Given the description of an element on the screen output the (x, y) to click on. 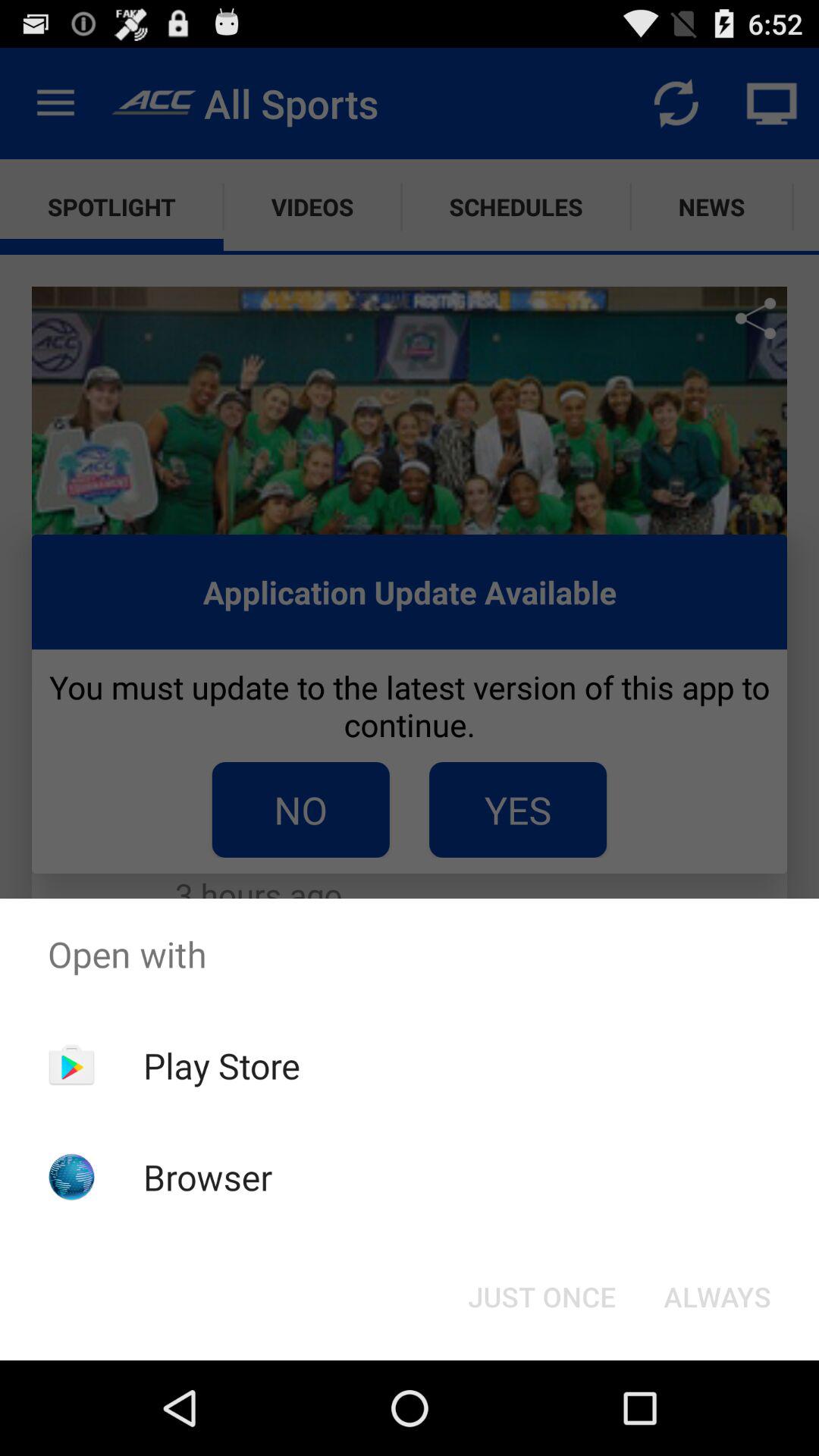
swipe until the always icon (717, 1296)
